Given the description of an element on the screen output the (x, y) to click on. 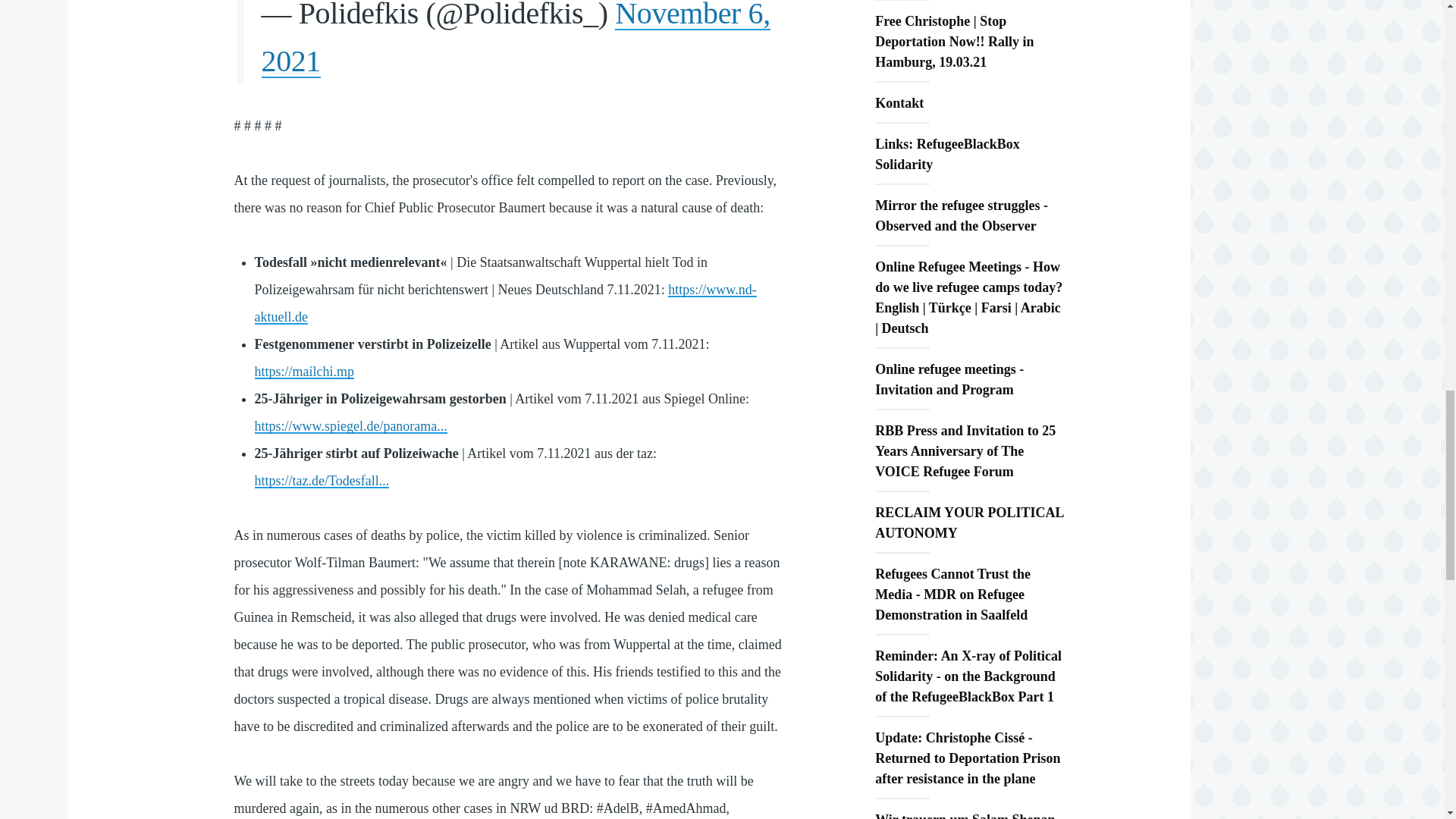
RECLAIM YOUR POLITICAL AUTONOMY (969, 522)
Mirror the refugee struggles - Observed and the Observer (969, 215)
Links: RefugeeBlackBox Solidarity (969, 154)
Kontakt (969, 102)
Kontakt (969, 102)
November 6, 2021 (516, 38)
Online refugee meetings - Invitation and Program (969, 379)
